Given the description of an element on the screen output the (x, y) to click on. 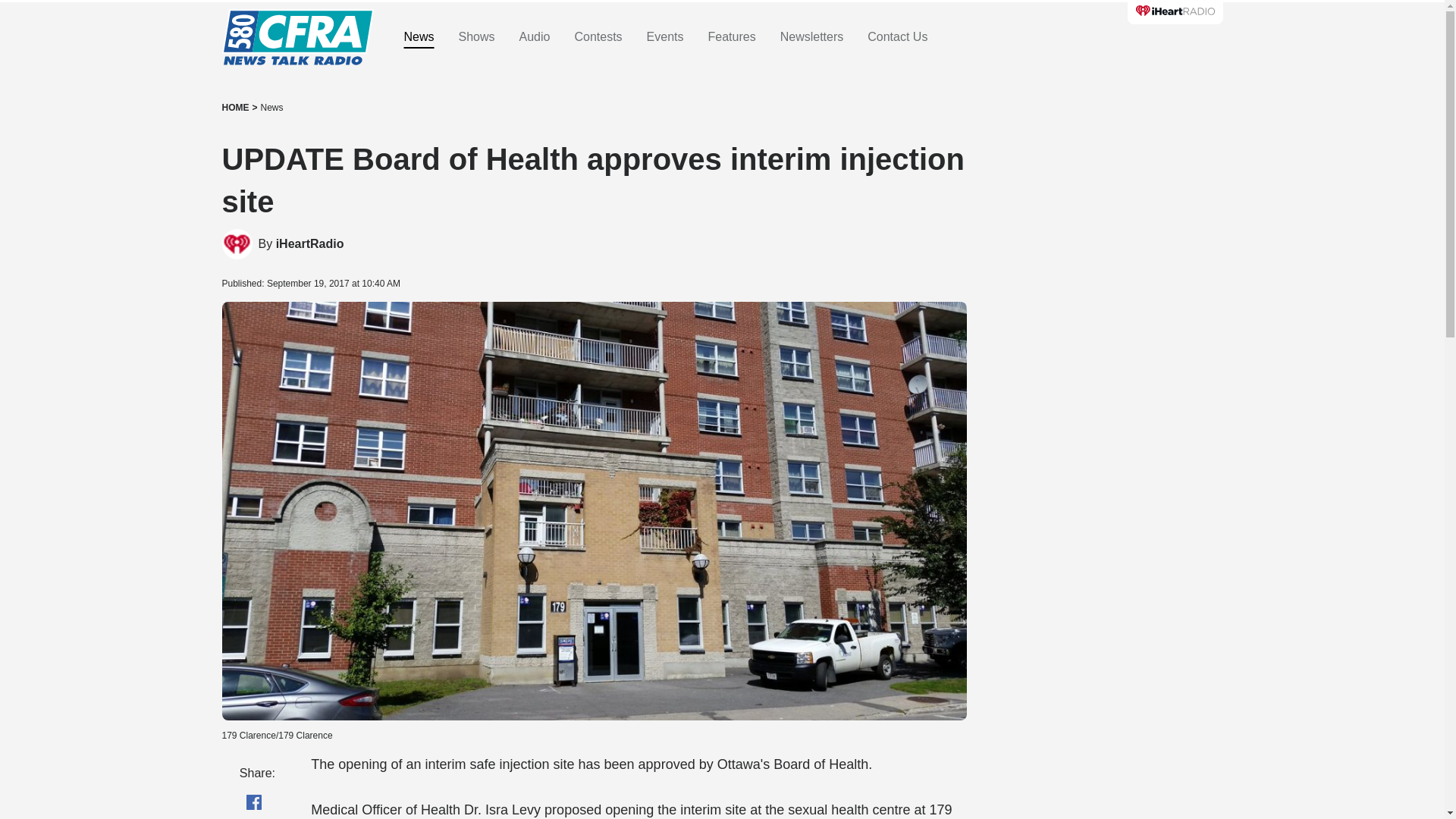
News (271, 107)
iHeartRadio   (236, 244)
Newsletters (812, 37)
Features (731, 37)
iHeartRadio (309, 243)
HOME (234, 107)
iHeartRadio   (309, 243)
Contests (597, 37)
Contact Us (897, 37)
